Given the description of an element on the screen output the (x, y) to click on. 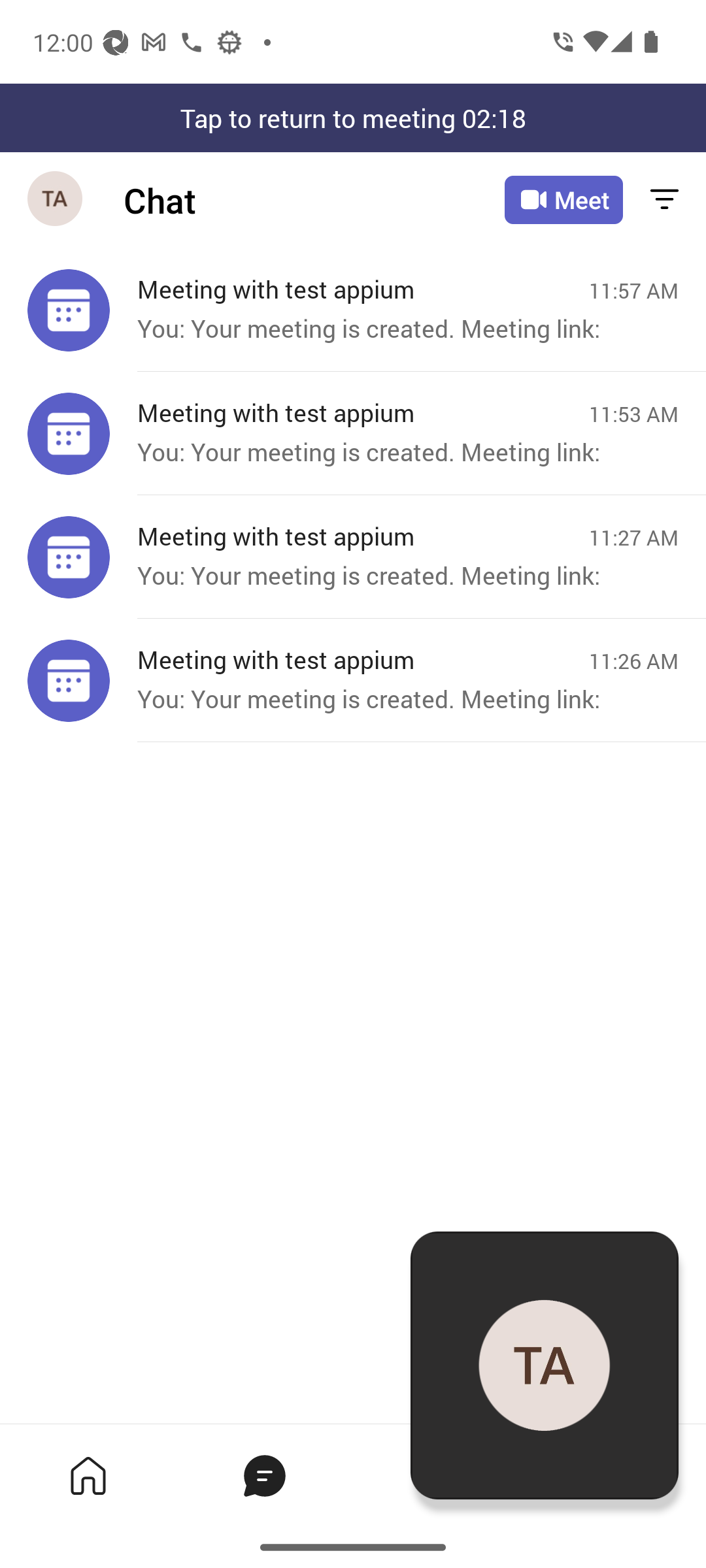
Tap to return to meeting 02:18 (353, 117)
Filter chat messages (664, 199)
Navigation (56, 199)
Meet Meet now or join with an ID (563, 199)
Home tab,1 of 4, not selected (88, 1475)
Chat tab, 2 of 4 (264, 1475)
